Given the description of an element on the screen output the (x, y) to click on. 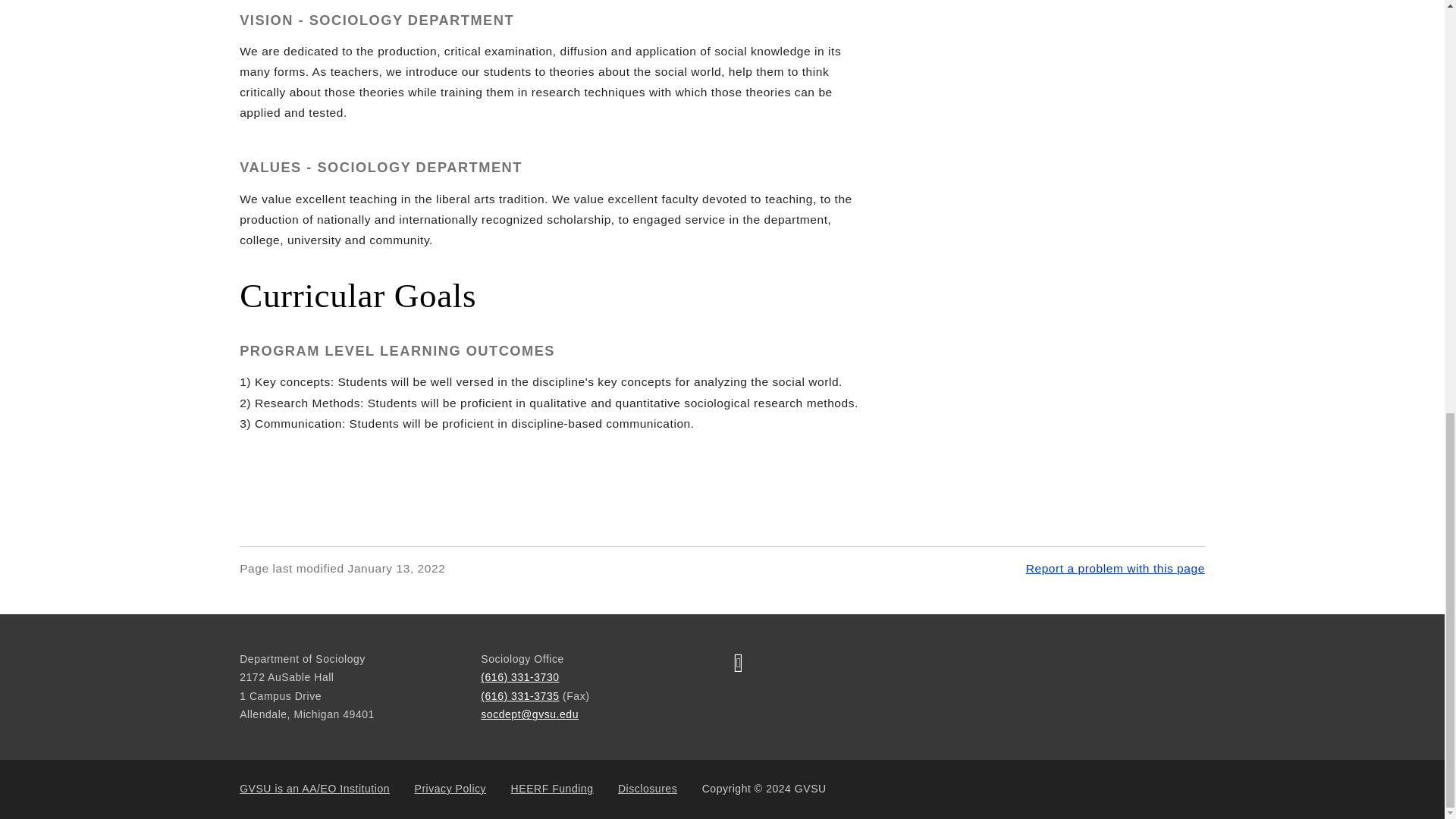
Disclosures (647, 789)
Report a problem with this page (1115, 567)
Privacy Policy (450, 789)
HEERF Funding (552, 789)
